Given the description of an element on the screen output the (x, y) to click on. 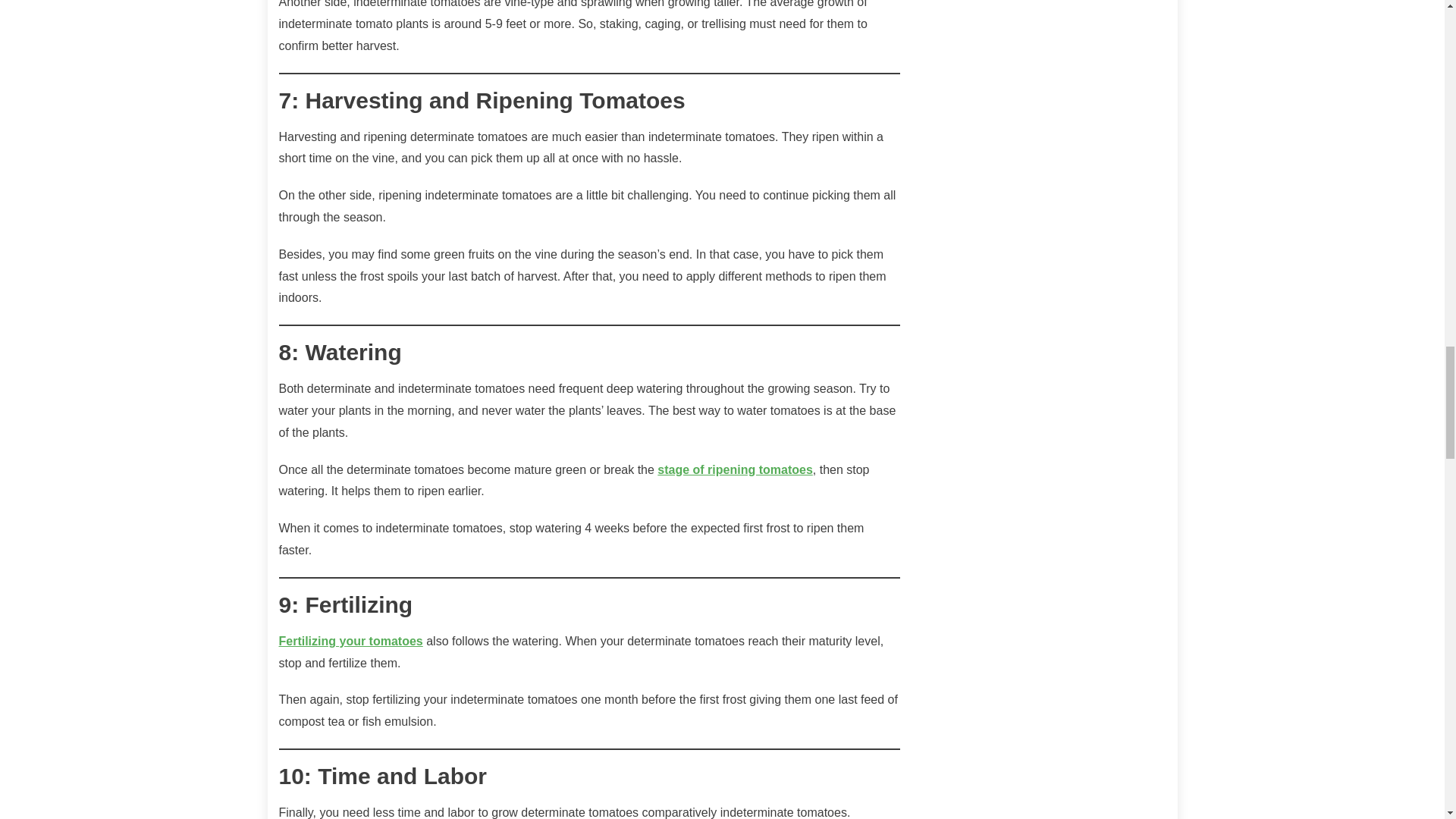
stage of ripening tomatoes (735, 469)
Fertilizing your tomatoes (351, 640)
